Given the description of an element on the screen output the (x, y) to click on. 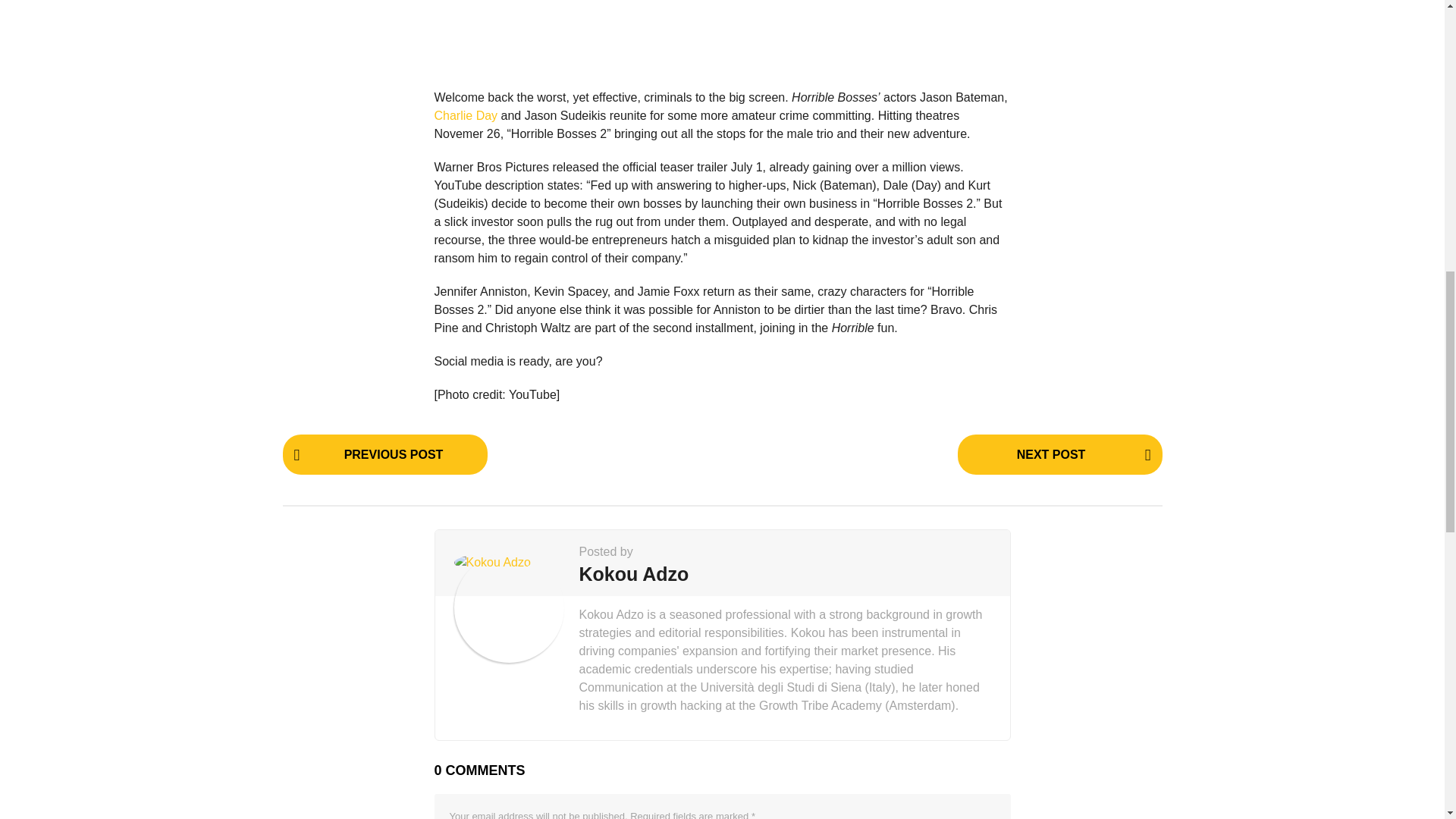
Charlie Day (465, 115)
PREVIOUS POST (384, 454)
NEXT POST (1058, 454)
Kokou Adzo (633, 573)
